Given the description of an element on the screen output the (x, y) to click on. 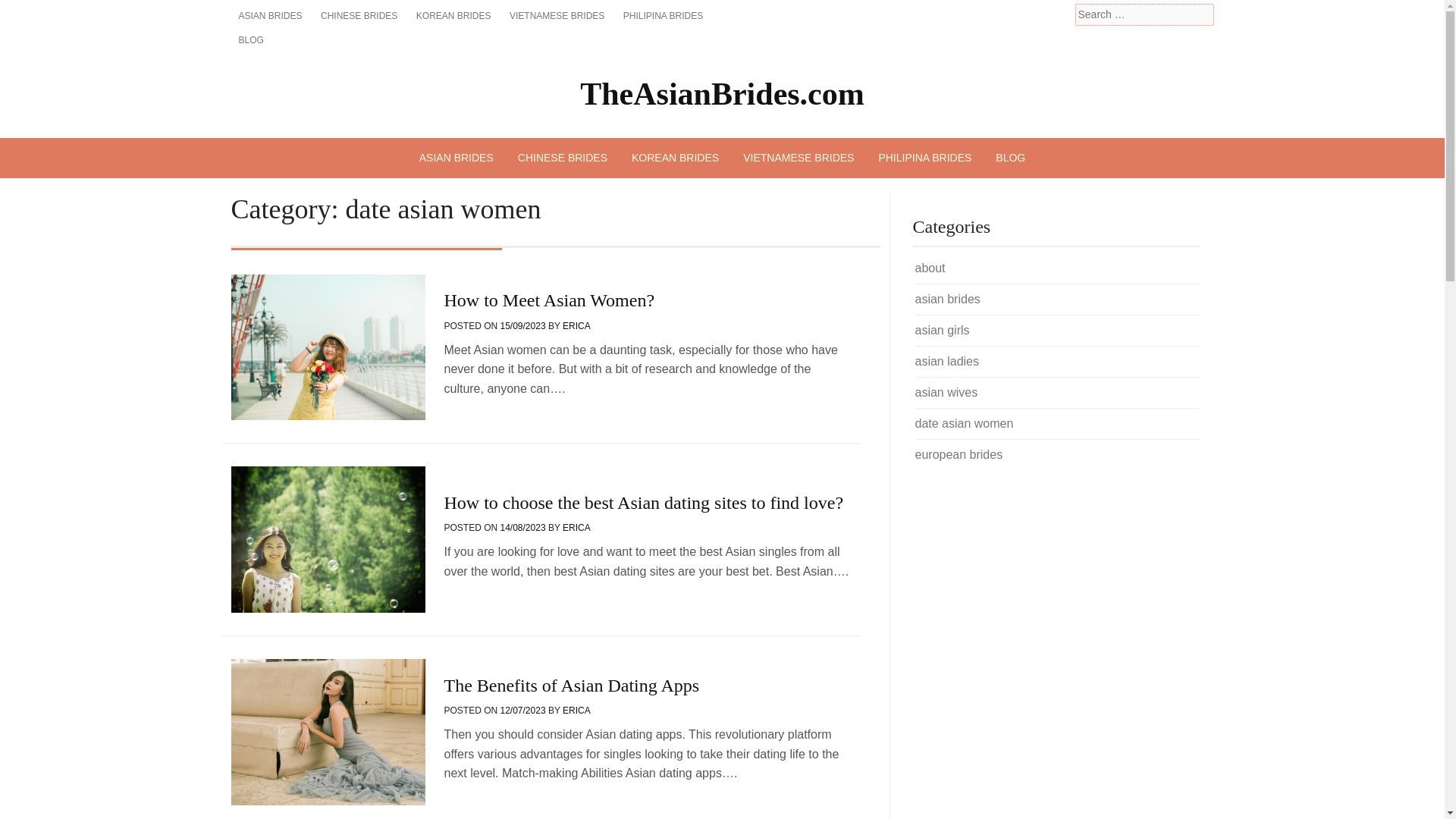
The Benefits of Asian Dating Apps (571, 685)
How to choose the best Asian dating sites to find love? (643, 502)
ERICA (576, 710)
KOREAN BRIDES (675, 158)
CHINESE BRIDES (562, 158)
ASIAN BRIDES (269, 15)
How to Meet Asian Women? (548, 300)
VIETNAMESE BRIDES (798, 158)
ASIAN BRIDES (456, 158)
ERICA (576, 527)
VIETNAMESE BRIDES (556, 15)
BLOG (250, 39)
PHILIPINA BRIDES (925, 158)
CHINESE BRIDES (358, 15)
ERICA (576, 326)
